Given the description of an element on the screen output the (x, y) to click on. 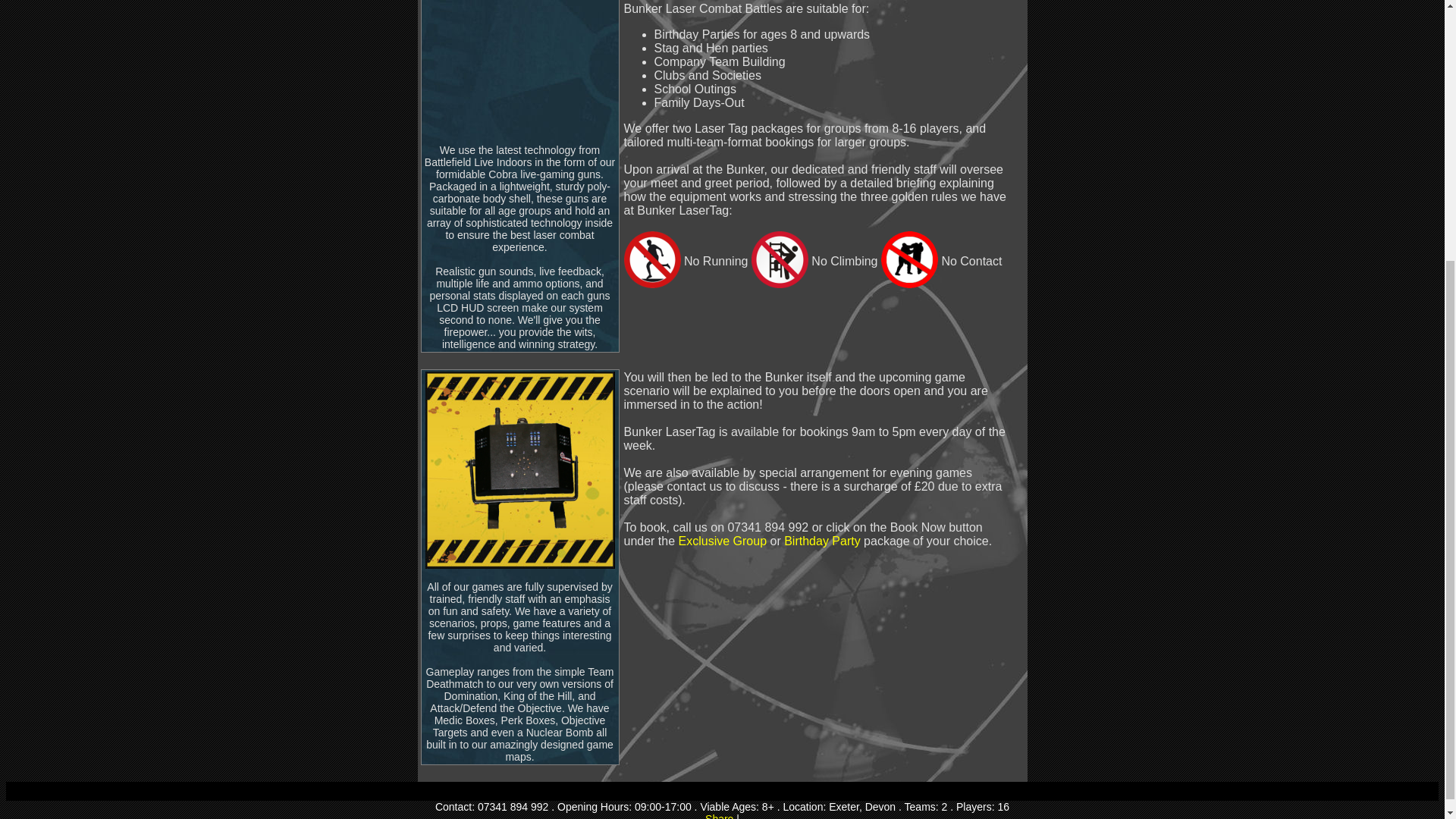
No Running (651, 259)
Exclusive Group (722, 540)
No Physical Contact (908, 259)
No Climbing (779, 259)
Cobra Laser Gaming Gun (519, 65)
Birthday Party (822, 540)
